Given the description of an element on the screen output the (x, y) to click on. 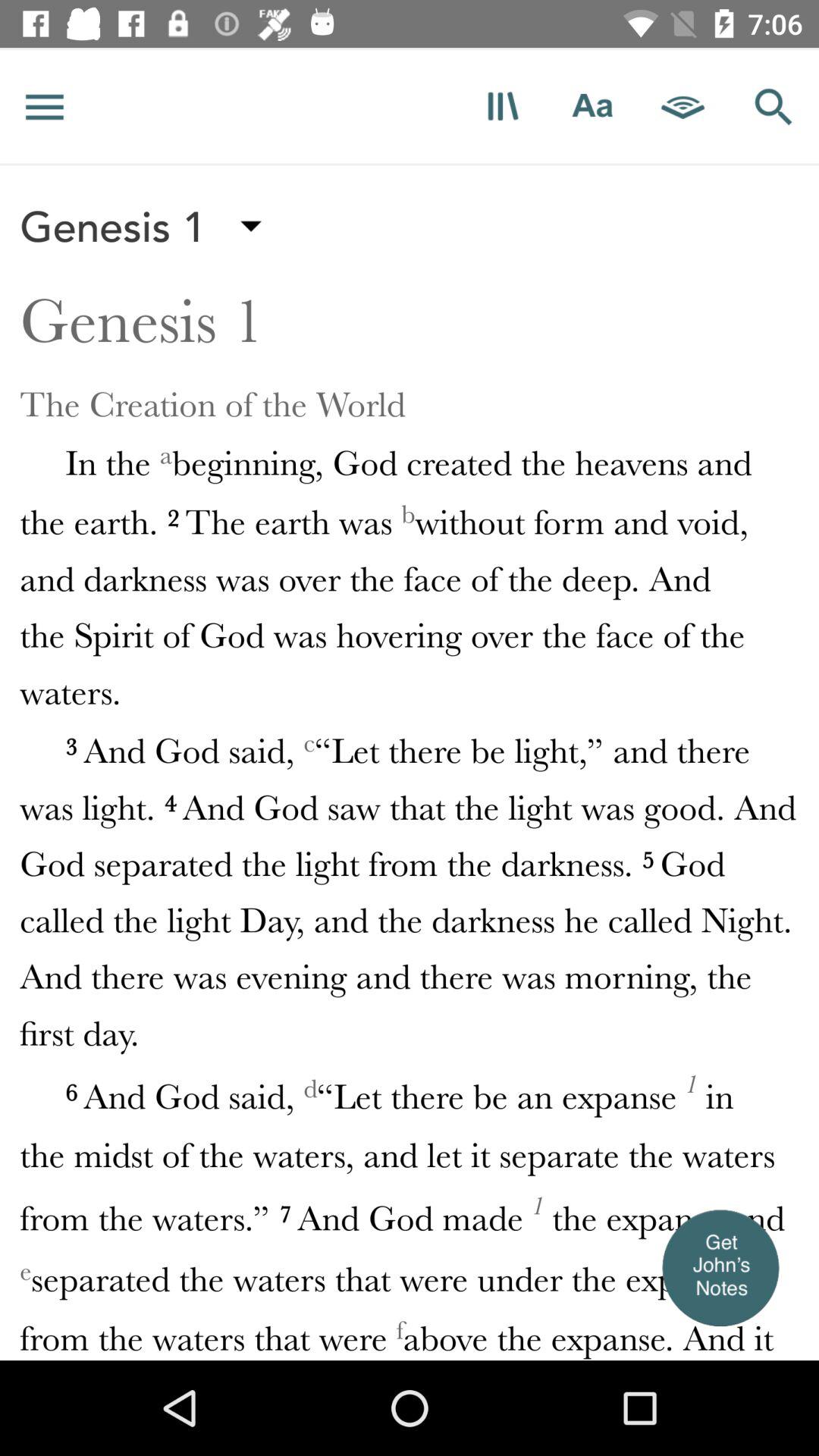
options (45, 106)
